Given the description of an element on the screen output the (x, y) to click on. 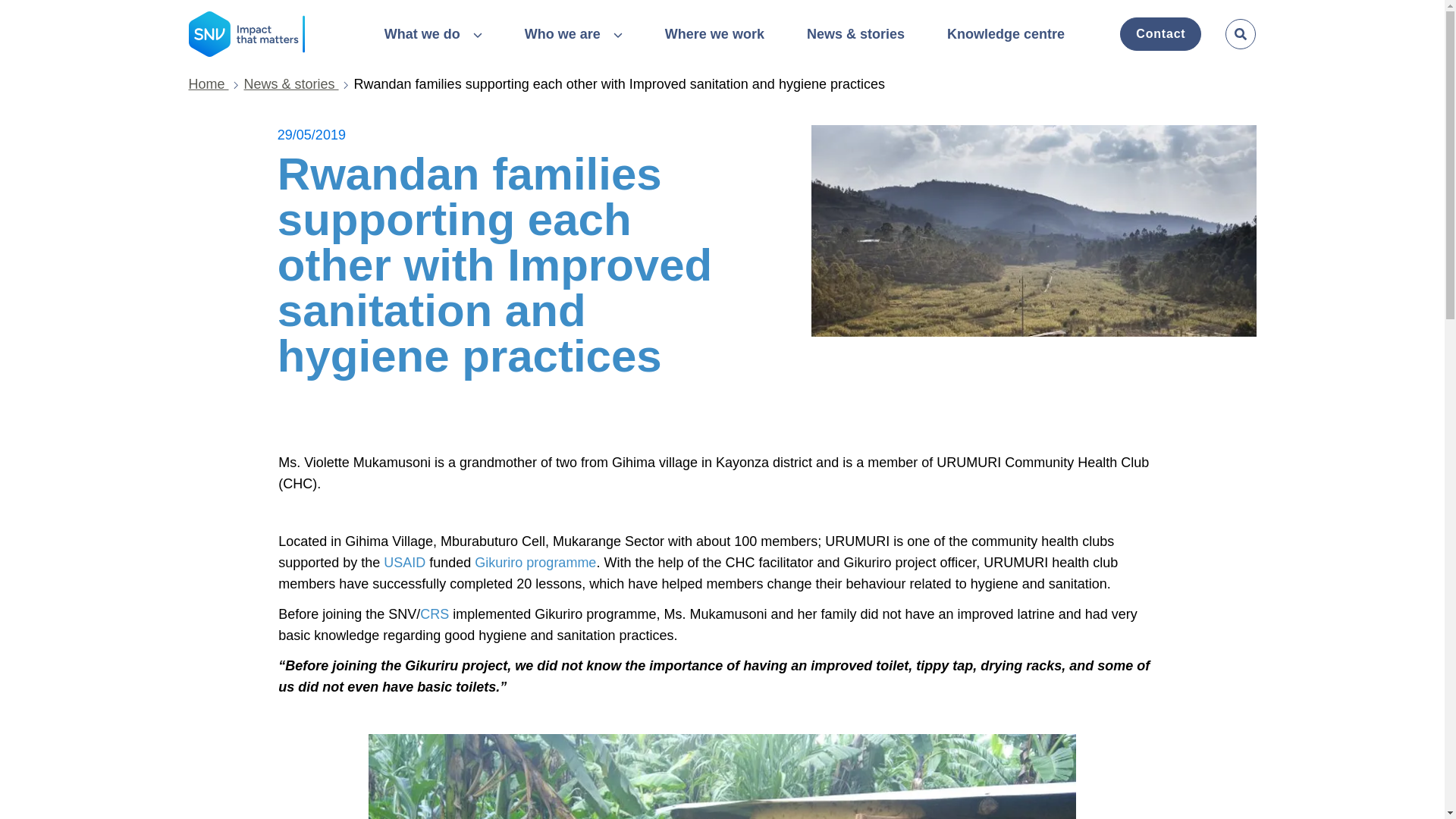
Where we work (714, 32)
Knowledge centre (1005, 32)
CRS (434, 613)
What we do (432, 34)
USAID (404, 562)
Gikuriro programme (534, 562)
Who we are (573, 34)
Home (215, 84)
Contact (1160, 33)
